Given the description of an element on the screen output the (x, y) to click on. 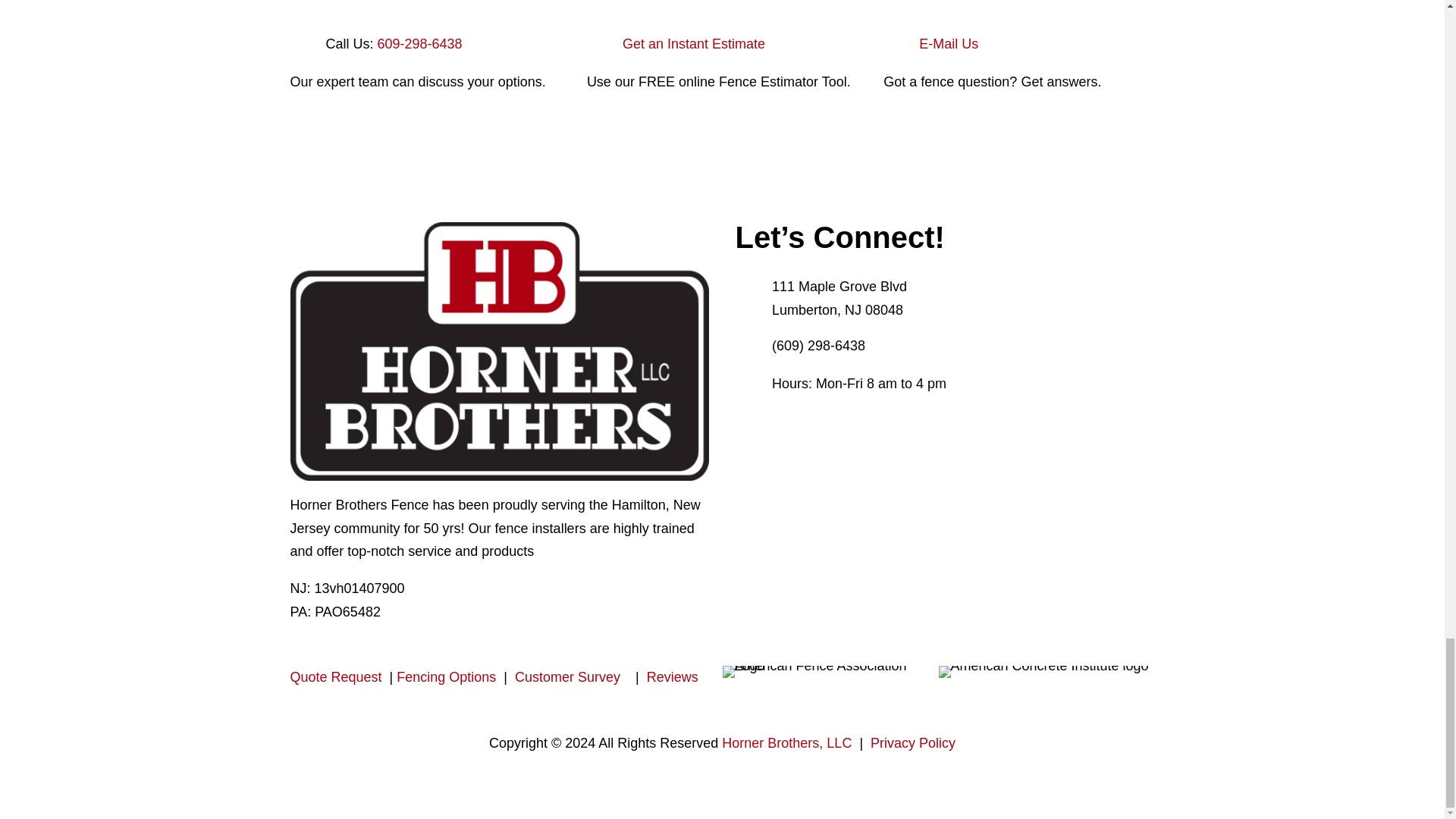
Follow on Instagram (808, 421)
Follow on LinkedIn (868, 421)
609-298-6438 (420, 43)
Follow on Google (898, 421)
Quote Request  (338, 676)
E-Mail Us (948, 43)
aci-logo-removebg-preview (1043, 671)
Follow on Facebook (747, 421)
Follow on Youtube (838, 421)
American Fence Association (829, 671)
